Given the description of an element on the screen output the (x, y) to click on. 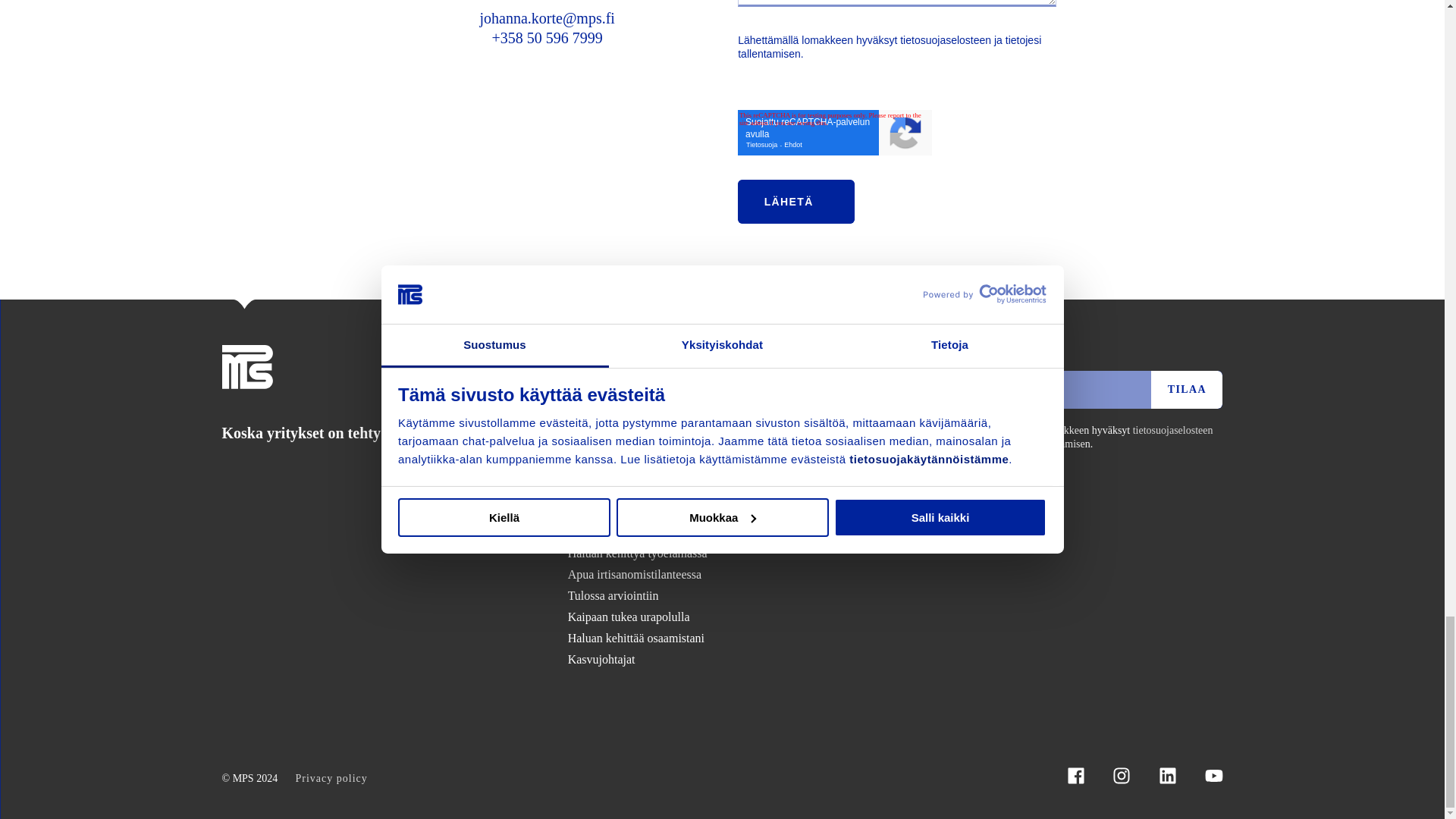
Tilaa (1187, 389)
